Given the description of an element on the screen output the (x, y) to click on. 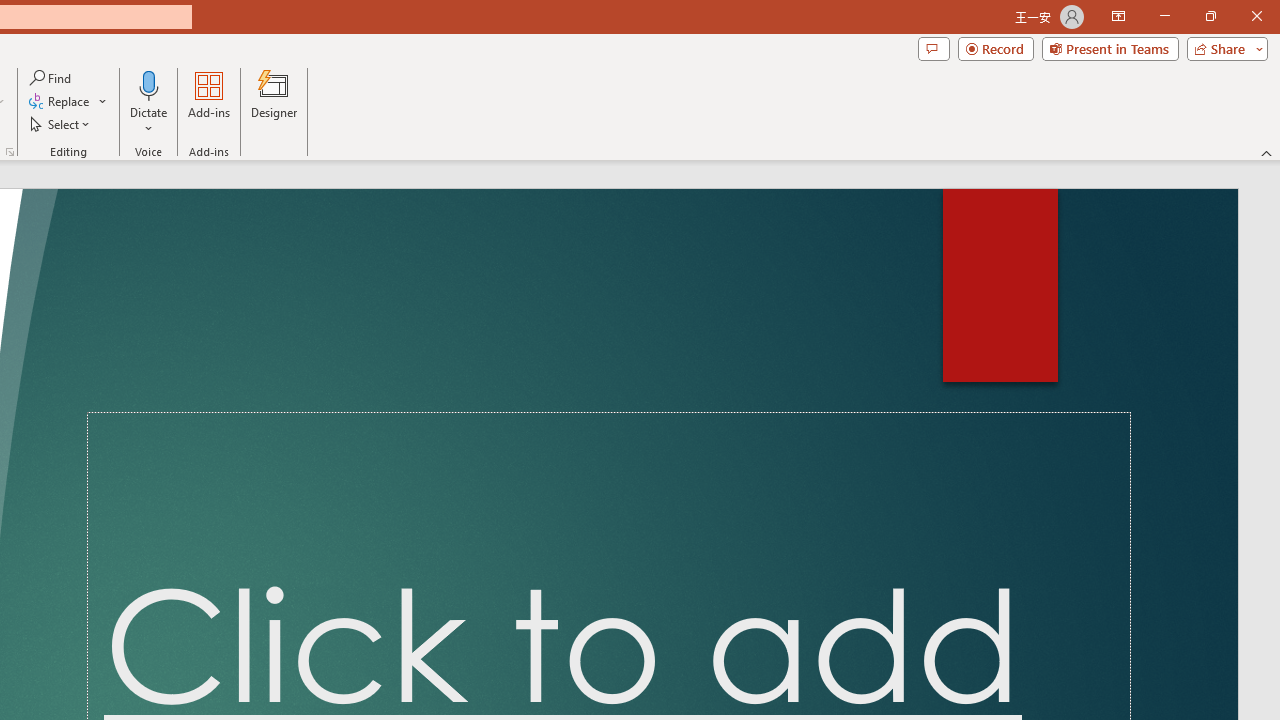
Select (61, 124)
